Given the description of an element on the screen output the (x, y) to click on. 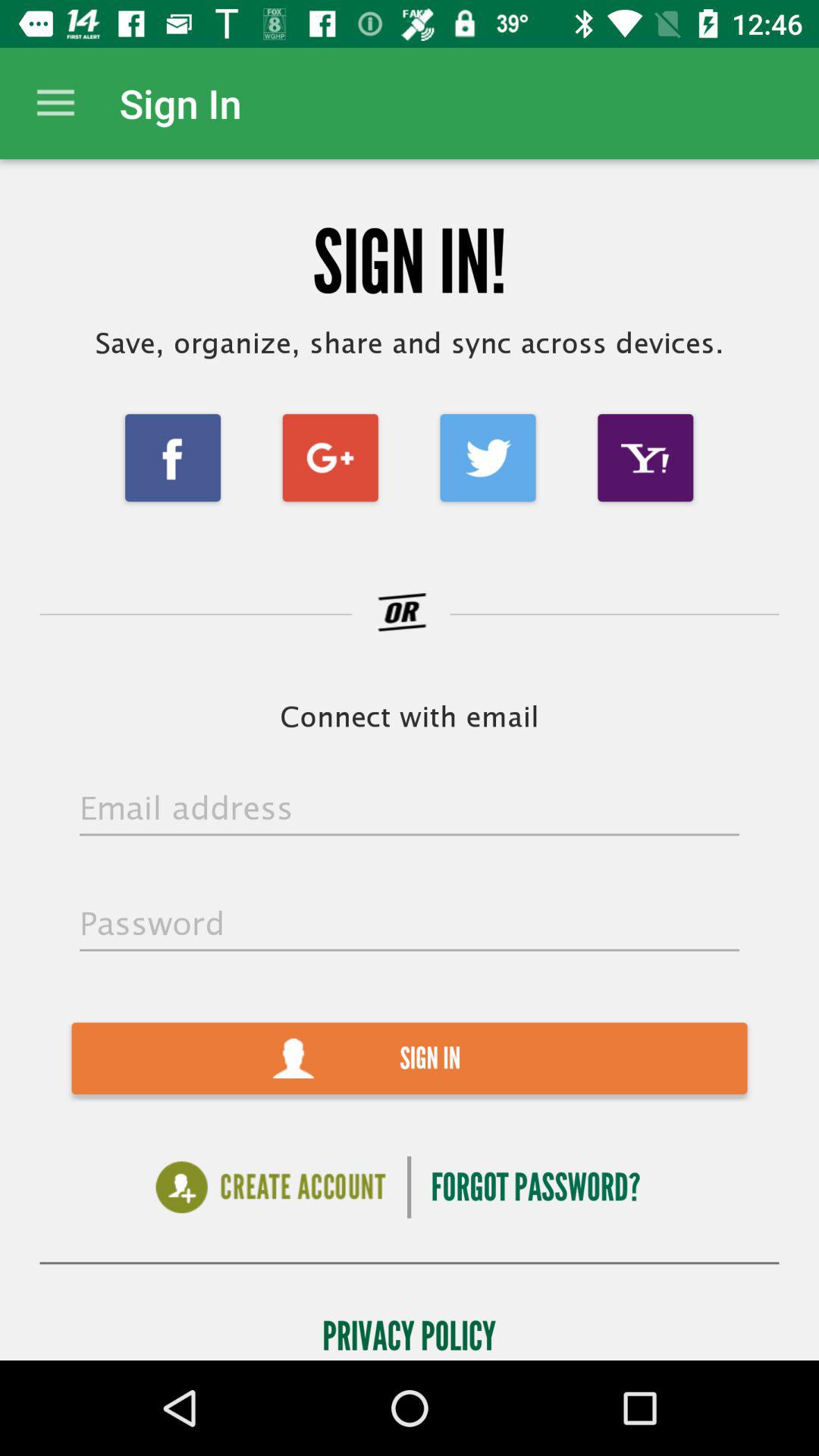
choose icon next to the sign in (55, 103)
